Given the description of an element on the screen output the (x, y) to click on. 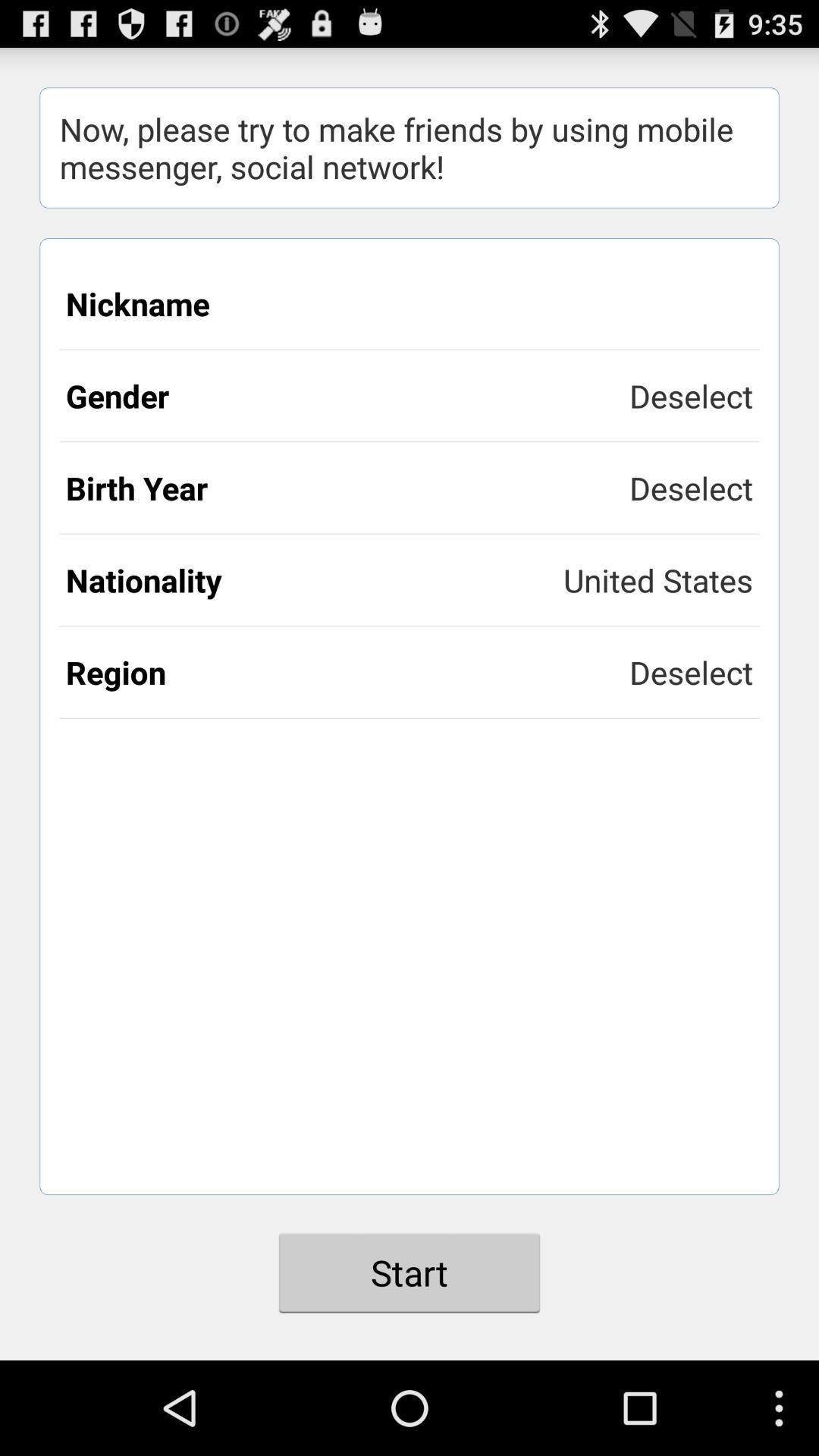
swipe to start button (409, 1272)
